Given the description of an element on the screen output the (x, y) to click on. 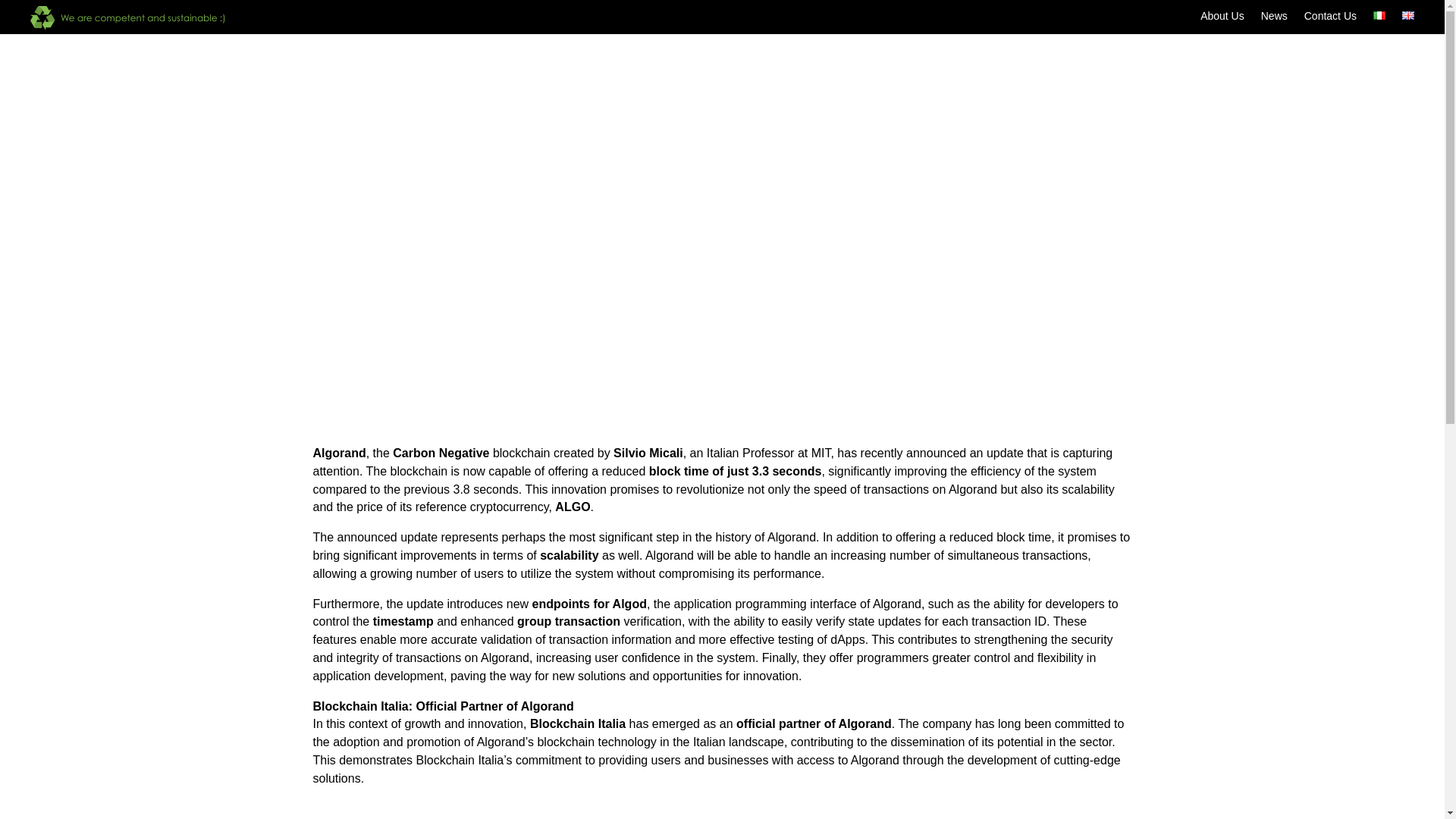
bciinterobianco200x200 (179, 84)
News (1273, 18)
Services        (1254, 62)
Portfolio (1326, 62)
eco2 (138, 17)
Contact Us (1330, 18)
About Us (1221, 18)
